Given the description of an element on the screen output the (x, y) to click on. 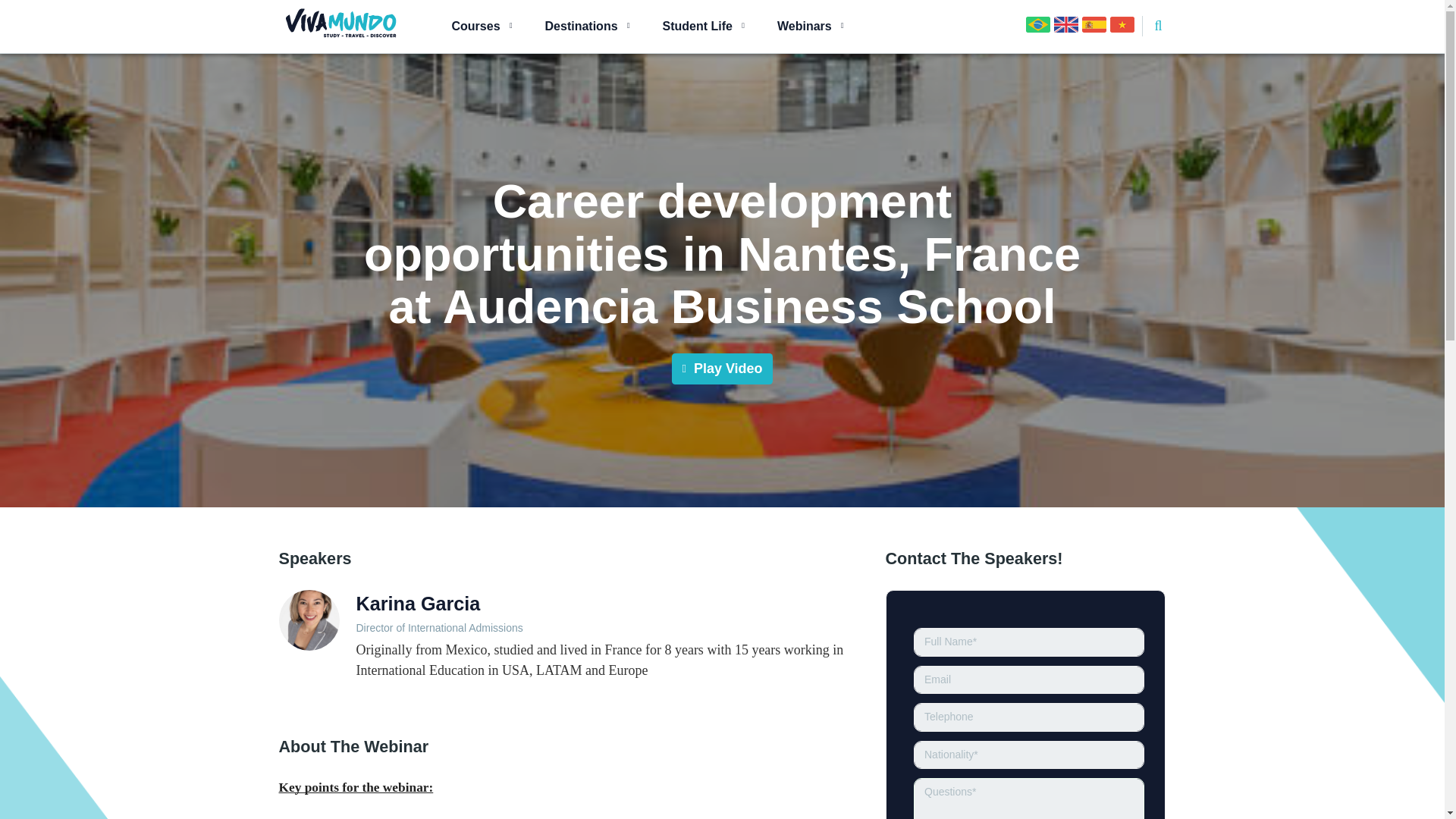
Destinations (577, 26)
Courses (471, 26)
Student Life (693, 26)
Home (341, 23)
